Given the description of an element on the screen output the (x, y) to click on. 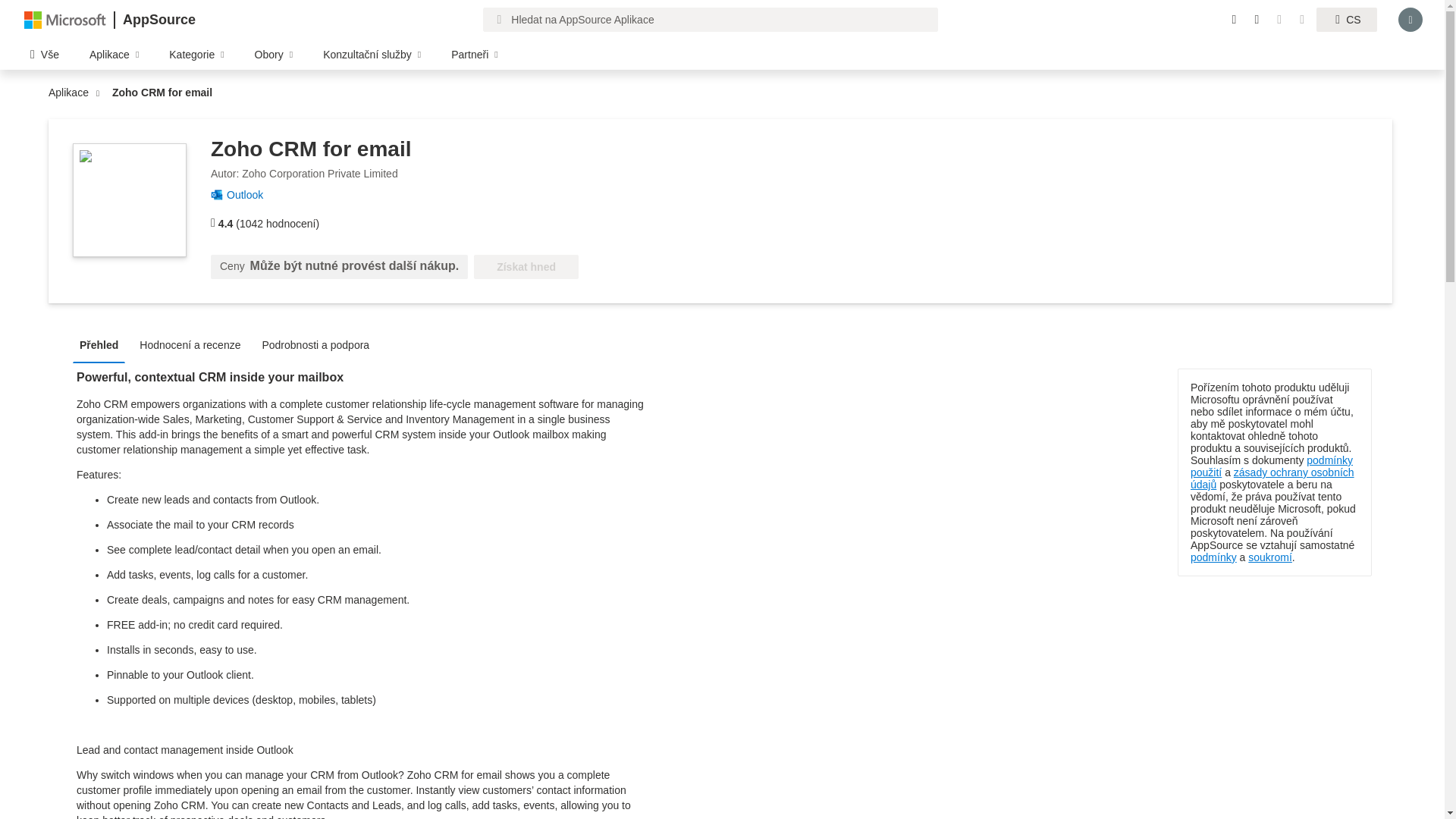
Microsoft (65, 18)
Aplikace (72, 92)
Outlook (251, 194)
Podrobnosti a podpora (319, 344)
Outlook (251, 194)
AppSource (158, 19)
